Given the description of an element on the screen output the (x, y) to click on. 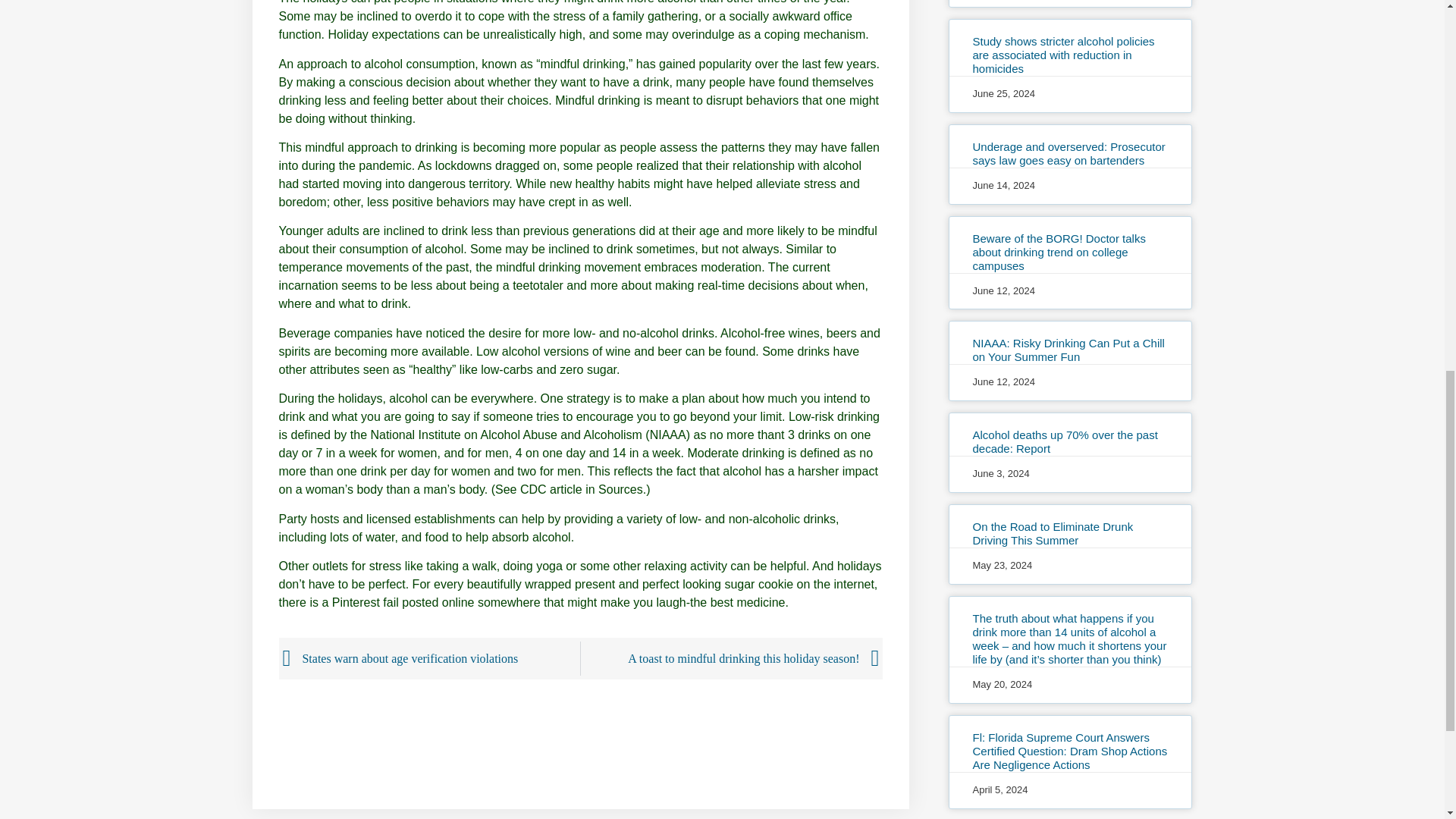
On the Road to Eliminate Drunk Driving This Summer (1052, 533)
NIAAA: Risky Drinking Can Put a Chill on Your Summer Fun (1067, 349)
A toast to mindful drinking this holiday season! (729, 658)
States warn about age verification violations (430, 658)
